Given the description of an element on the screen output the (x, y) to click on. 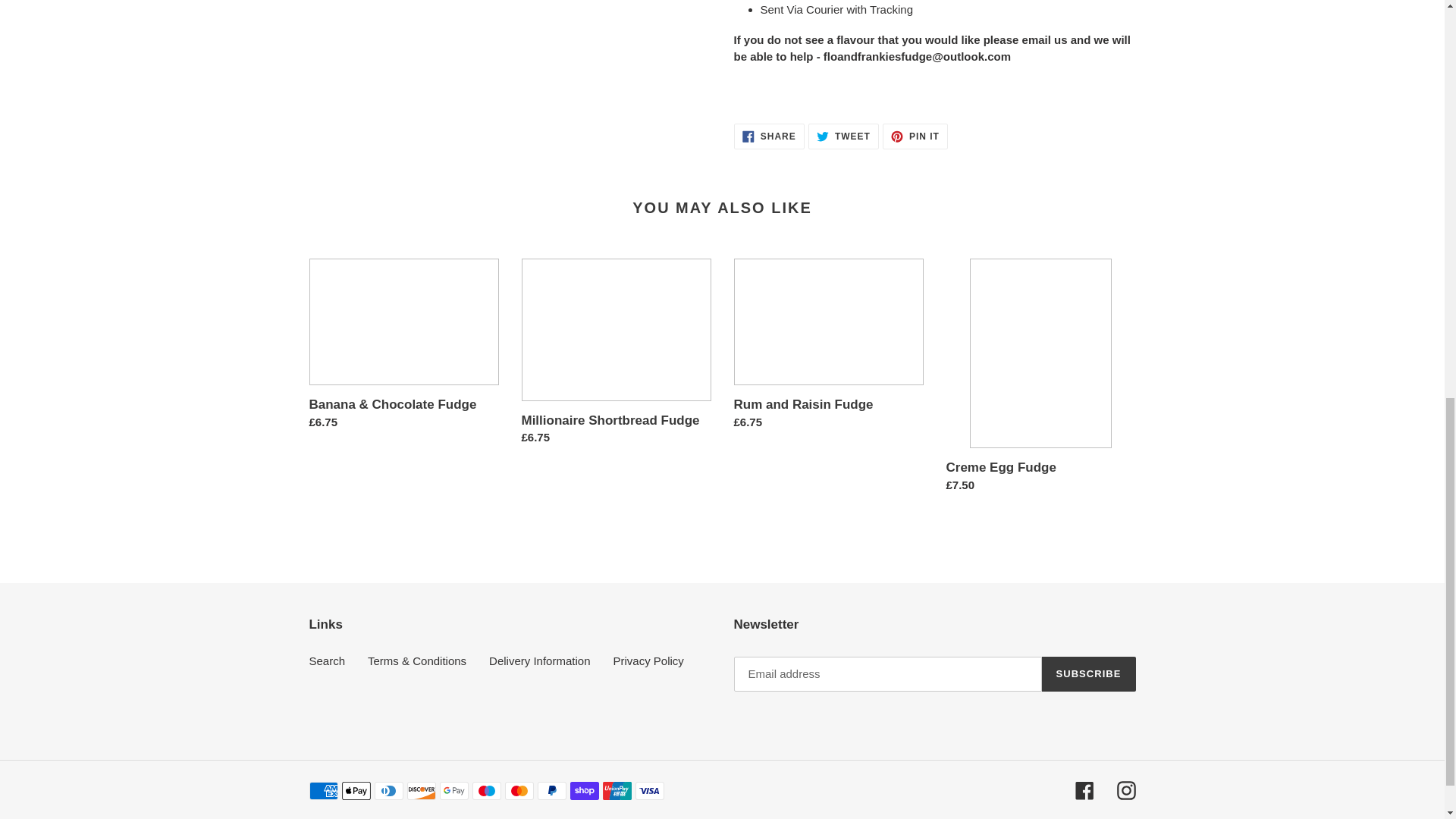
Rum and Raisin Fudge (914, 136)
Creme Egg Fudge (843, 136)
Millionaire Shortbread Fudge (828, 347)
